Given the description of an element on the screen output the (x, y) to click on. 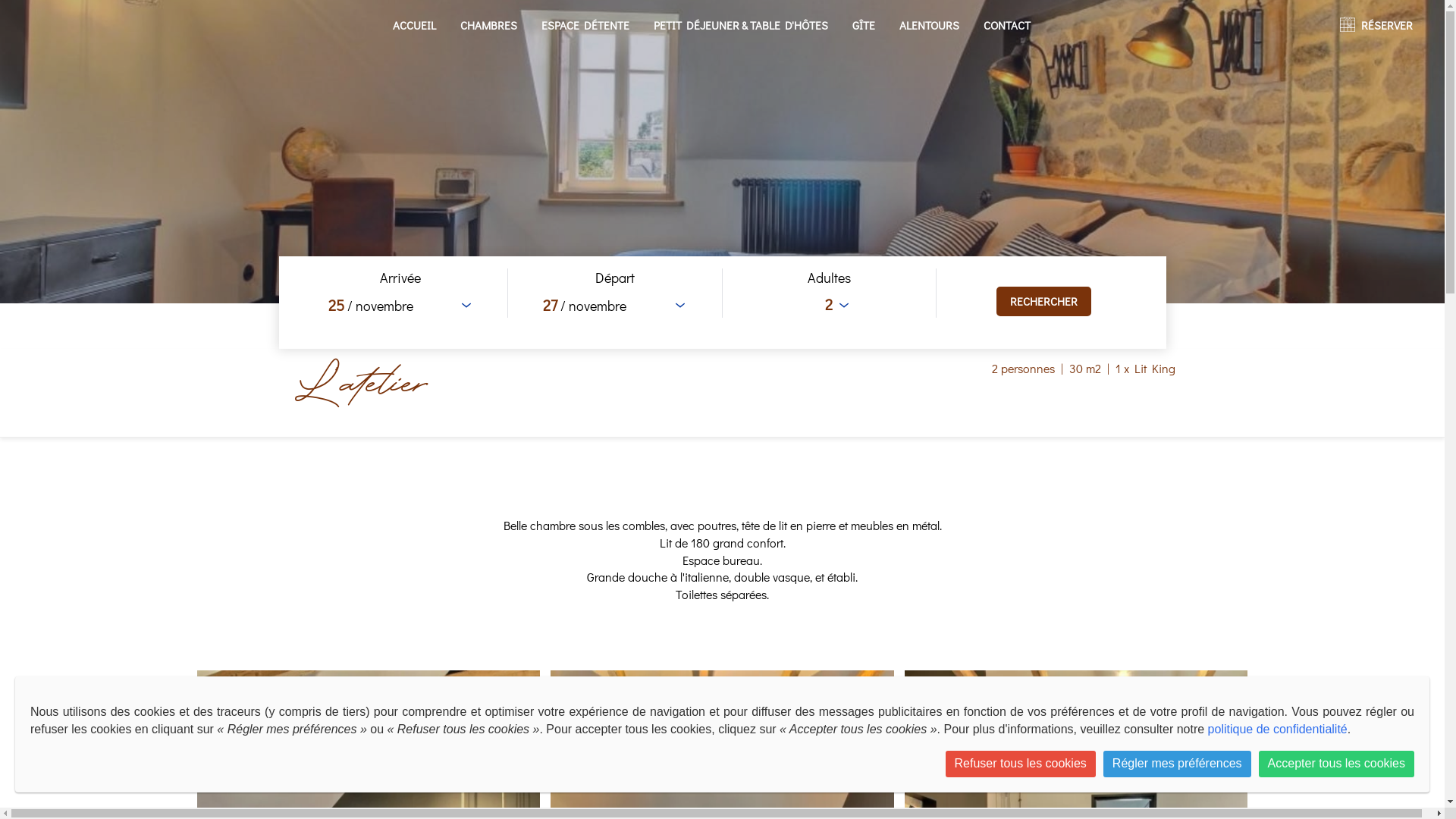
CONTACT Element type: text (1006, 24)
CHAMBRES Element type: text (488, 24)
RECHERCHER Element type: text (1043, 301)
ACCUEIL Element type: text (414, 24)
Refuser tous les cookies Element type: text (1020, 763)
ALENTOURS Element type: text (929, 24)
Accepter tous les cookies Element type: text (1336, 763)
